Given the description of an element on the screen output the (x, y) to click on. 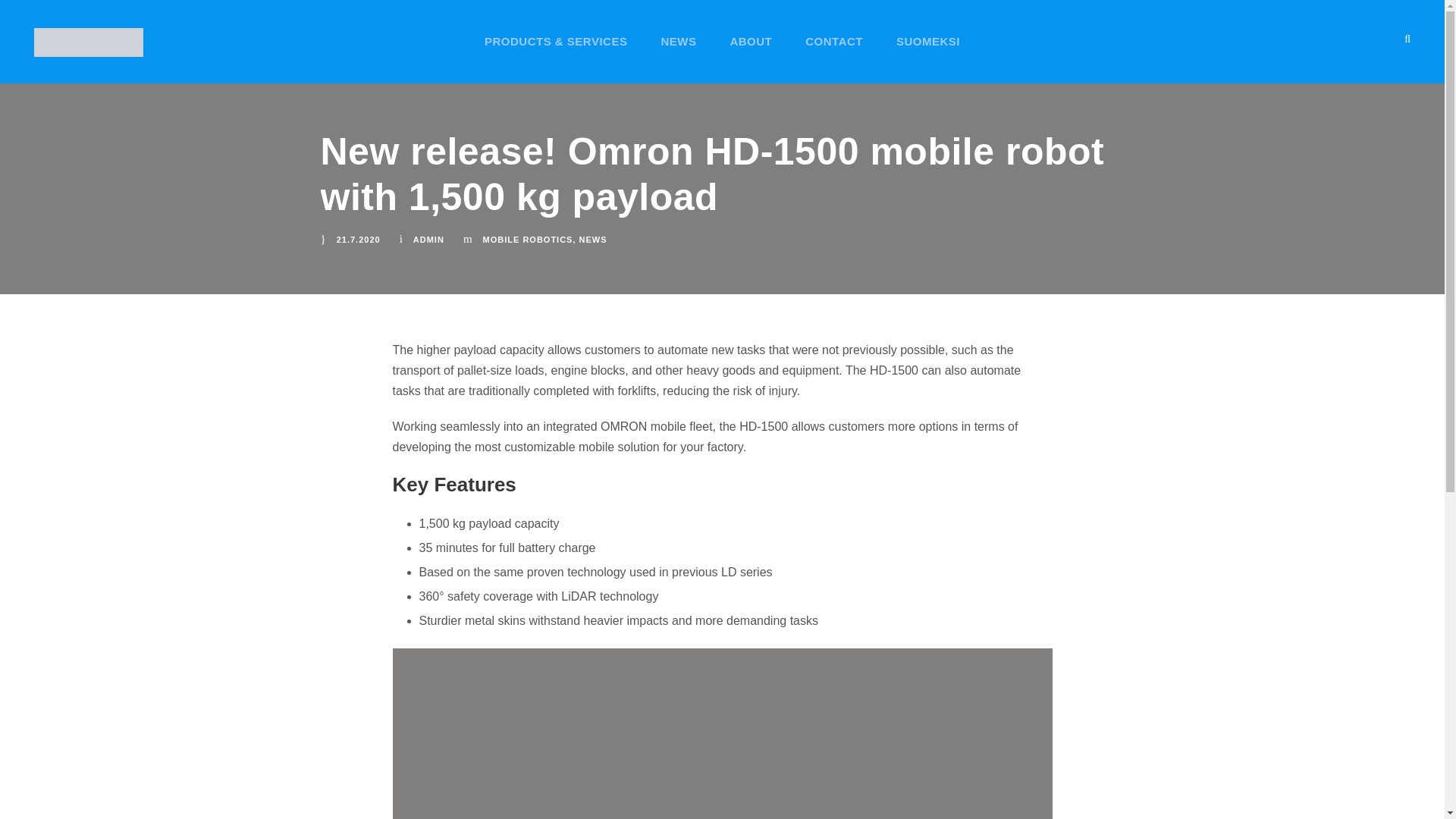
SUOMEKSI (927, 57)
Posts by admin (428, 239)
NEWS (593, 239)
ADMIN (428, 239)
MOBILE ROBOTICS (528, 239)
CONTACT (834, 57)
21.7.2020 (358, 239)
